Given the description of an element on the screen output the (x, y) to click on. 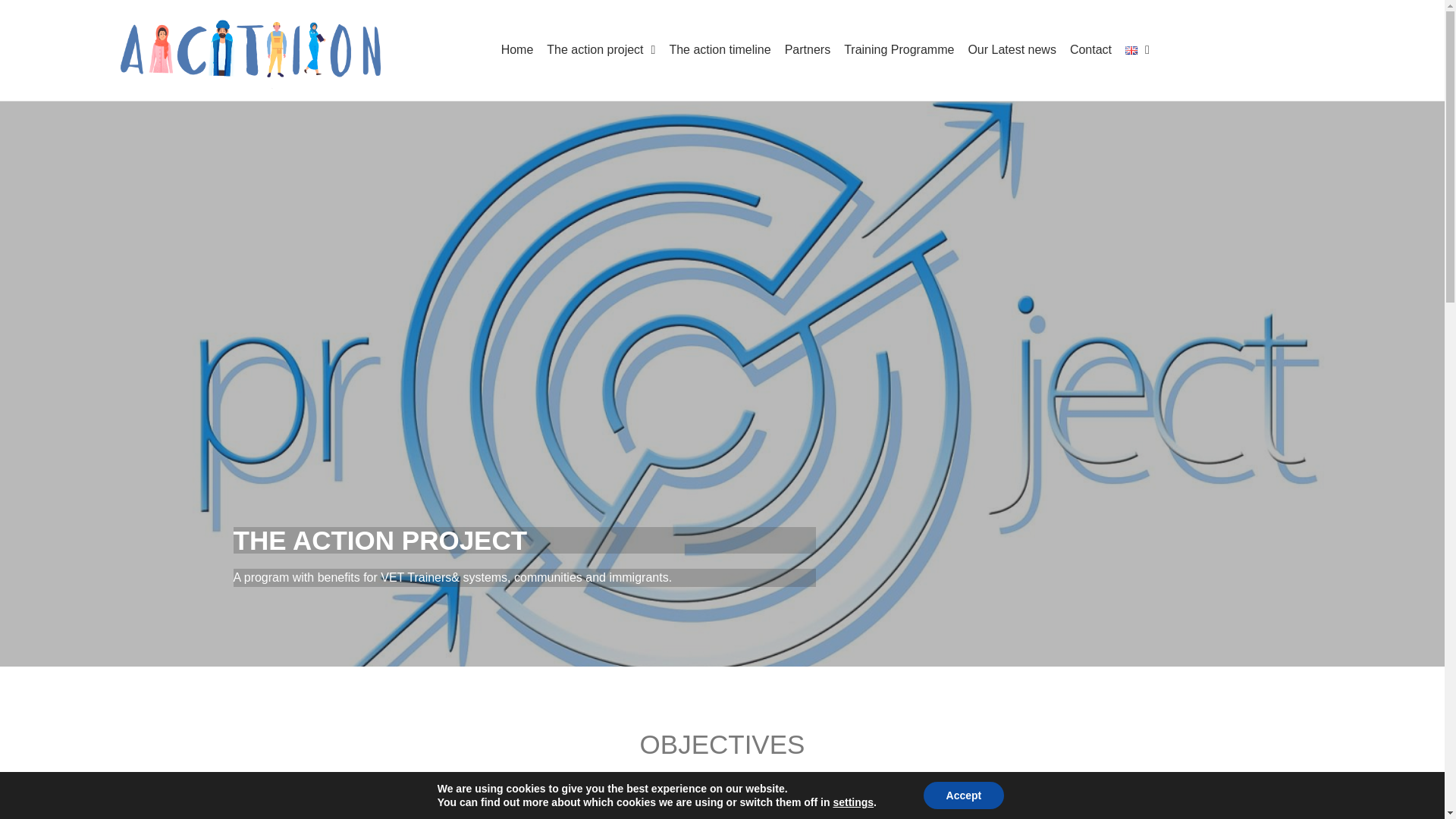
Home (517, 49)
Our Latest news (1011, 49)
The action project (601, 49)
Partners (807, 49)
The action timeline (719, 49)
Training Programme (898, 49)
Contact (1090, 49)
